Given the description of an element on the screen output the (x, y) to click on. 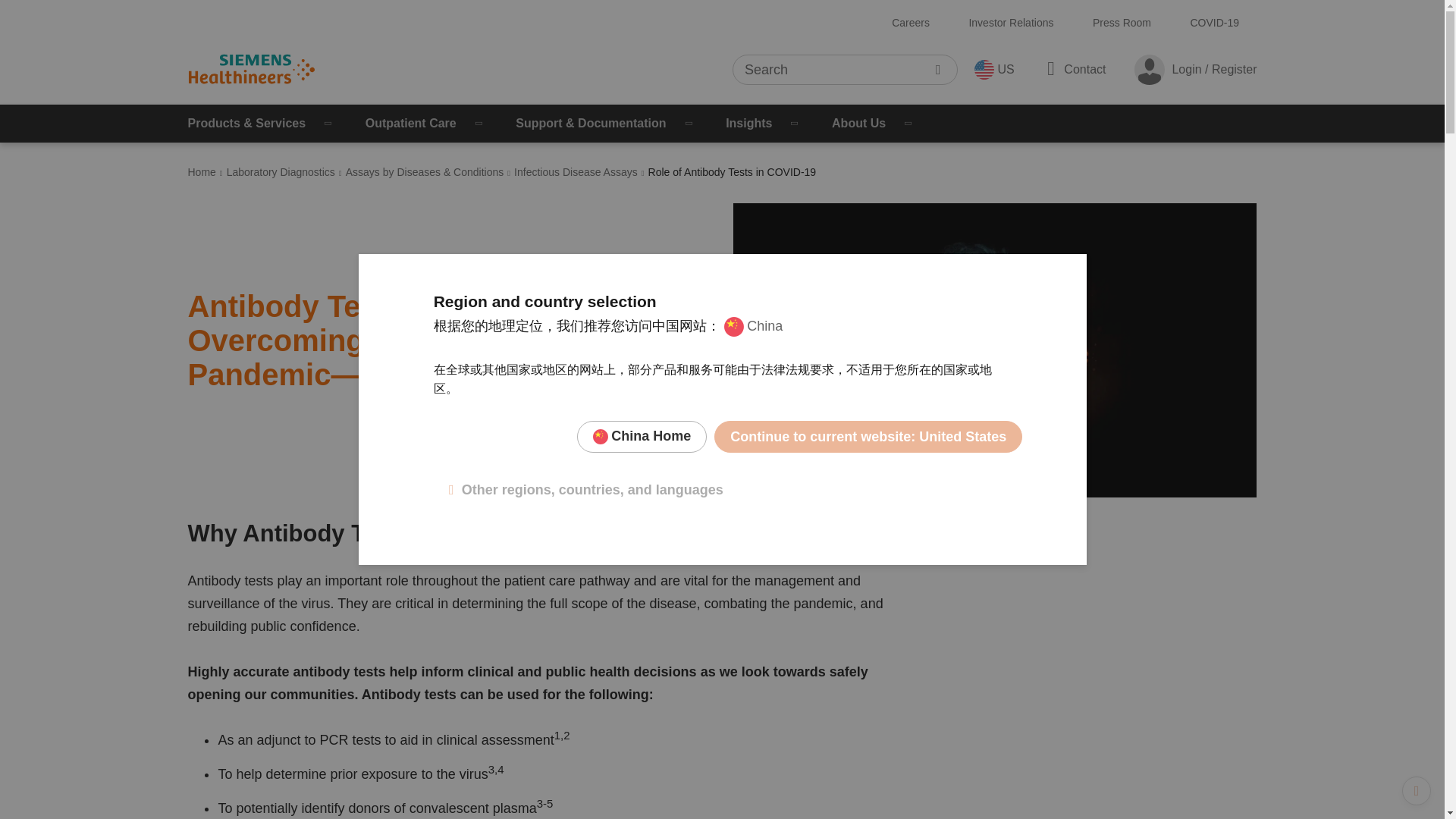
Other regions, countries, and languages (585, 489)
Press Room (1121, 22)
Outpatient Care (425, 123)
Continue to current website: United States (868, 436)
US (994, 69)
China (753, 325)
About Us (873, 123)
Laboratory Diagnostics (280, 172)
Contact (1073, 69)
Home (201, 172)
